Given the description of an element on the screen output the (x, y) to click on. 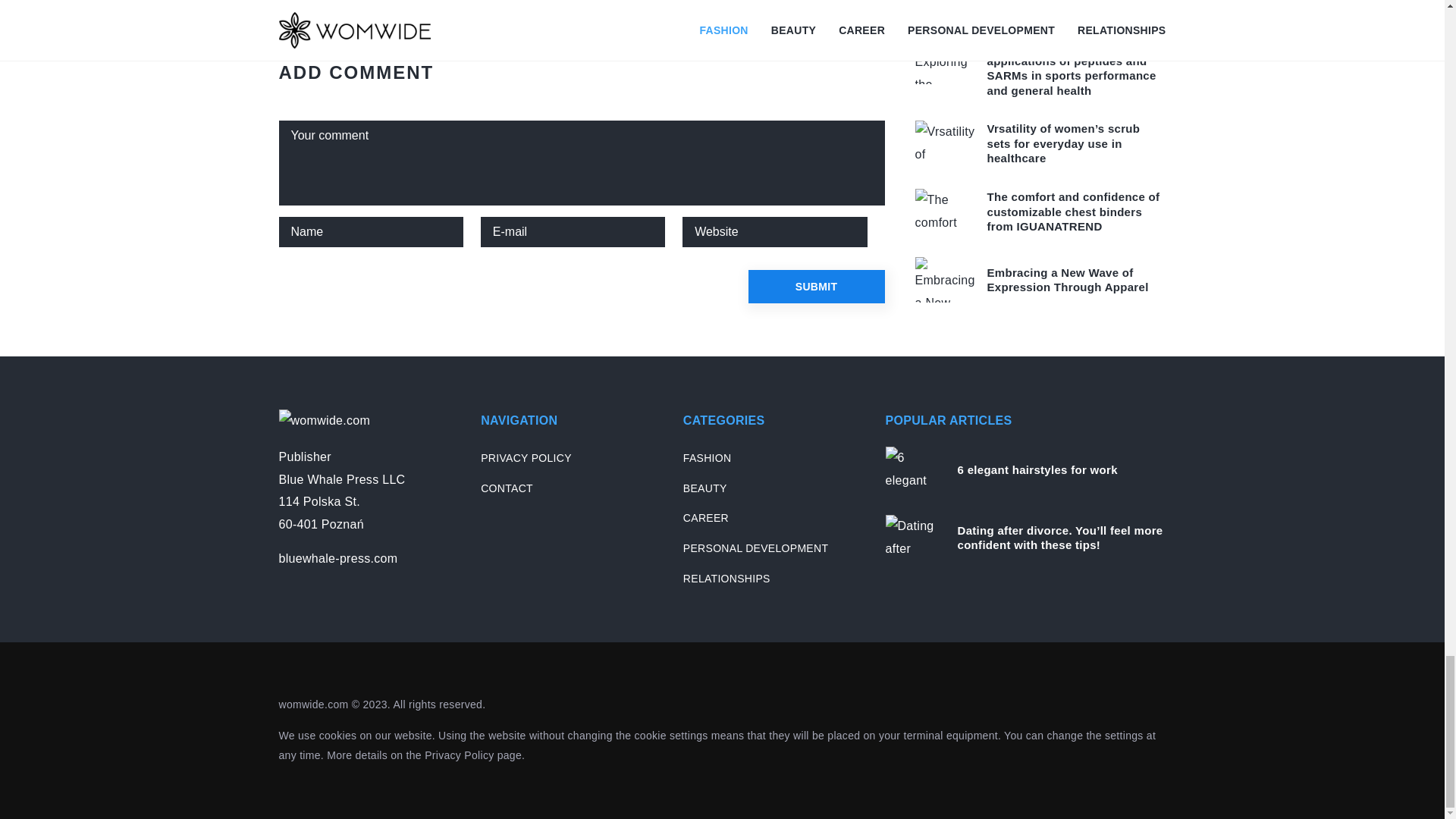
Submit (815, 286)
Submit (815, 286)
